Given the description of an element on the screen output the (x, y) to click on. 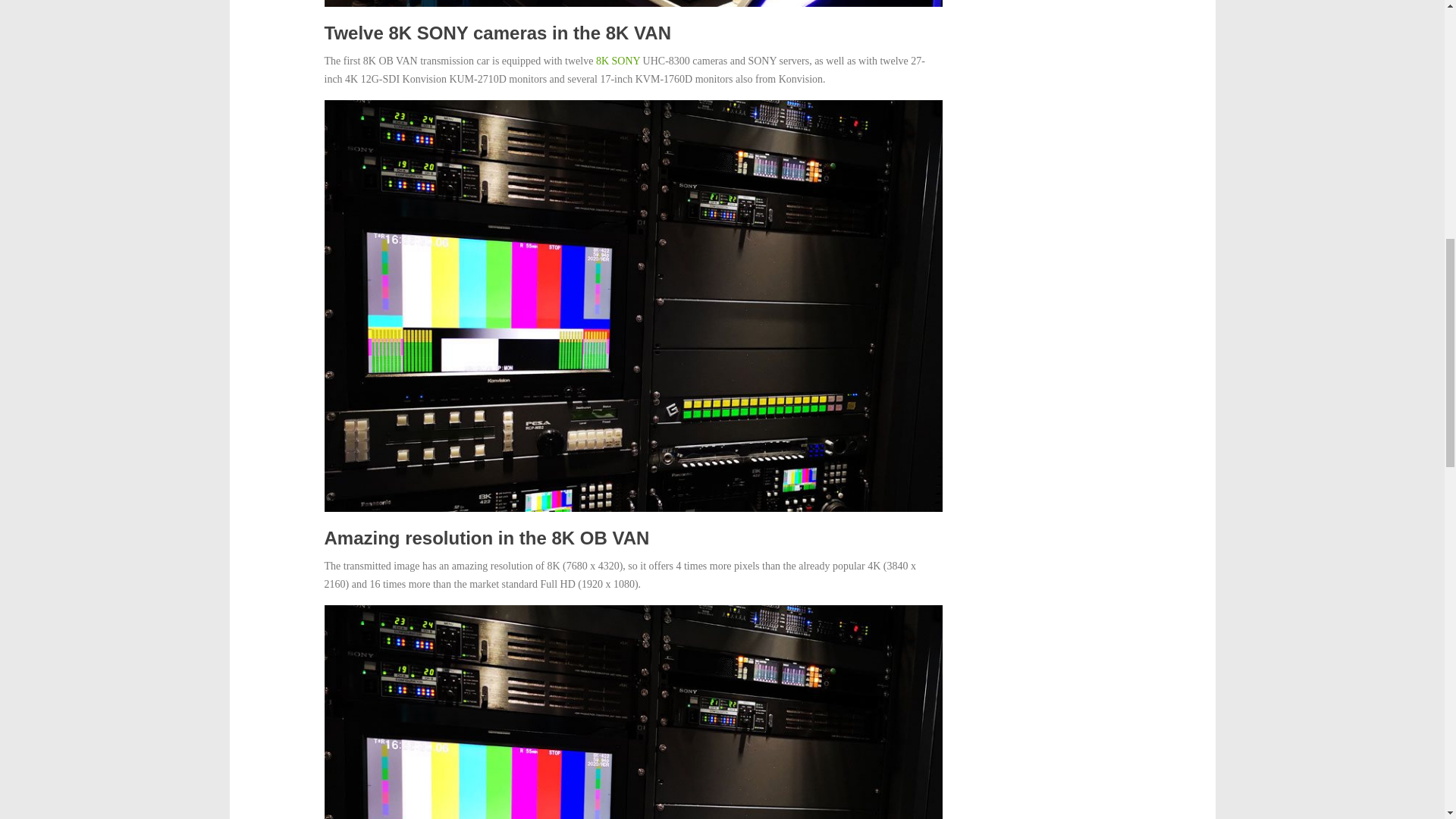
8K SONY (617, 60)
